Given the description of an element on the screen output the (x, y) to click on. 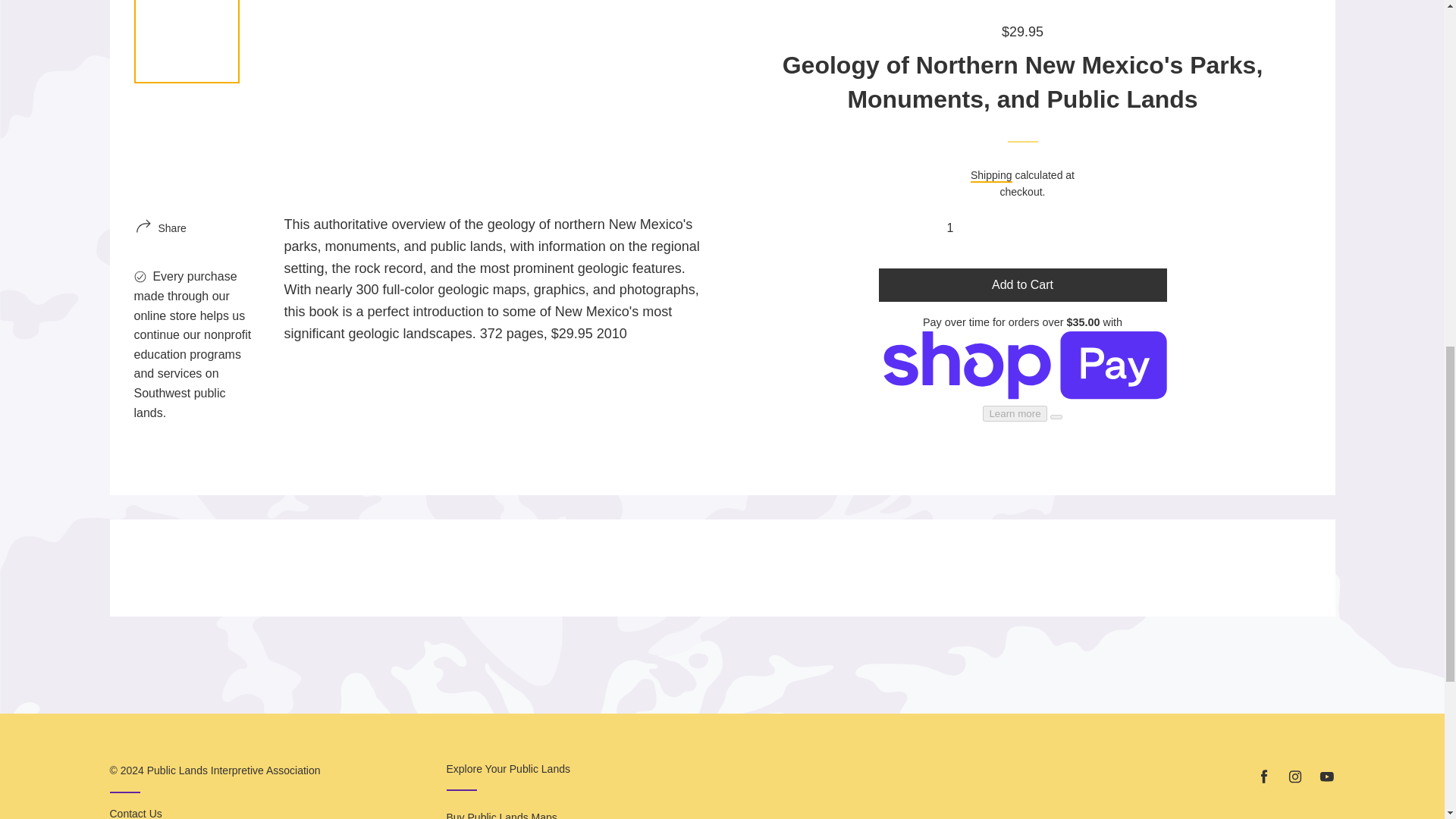
Public Lands Interpretive Association on Facebook (1263, 776)
Public Lands Interpretive Association on YouTube (1326, 776)
Public Lands Interpretive Association on Instagram (1295, 776)
